Given the description of an element on the screen output the (x, y) to click on. 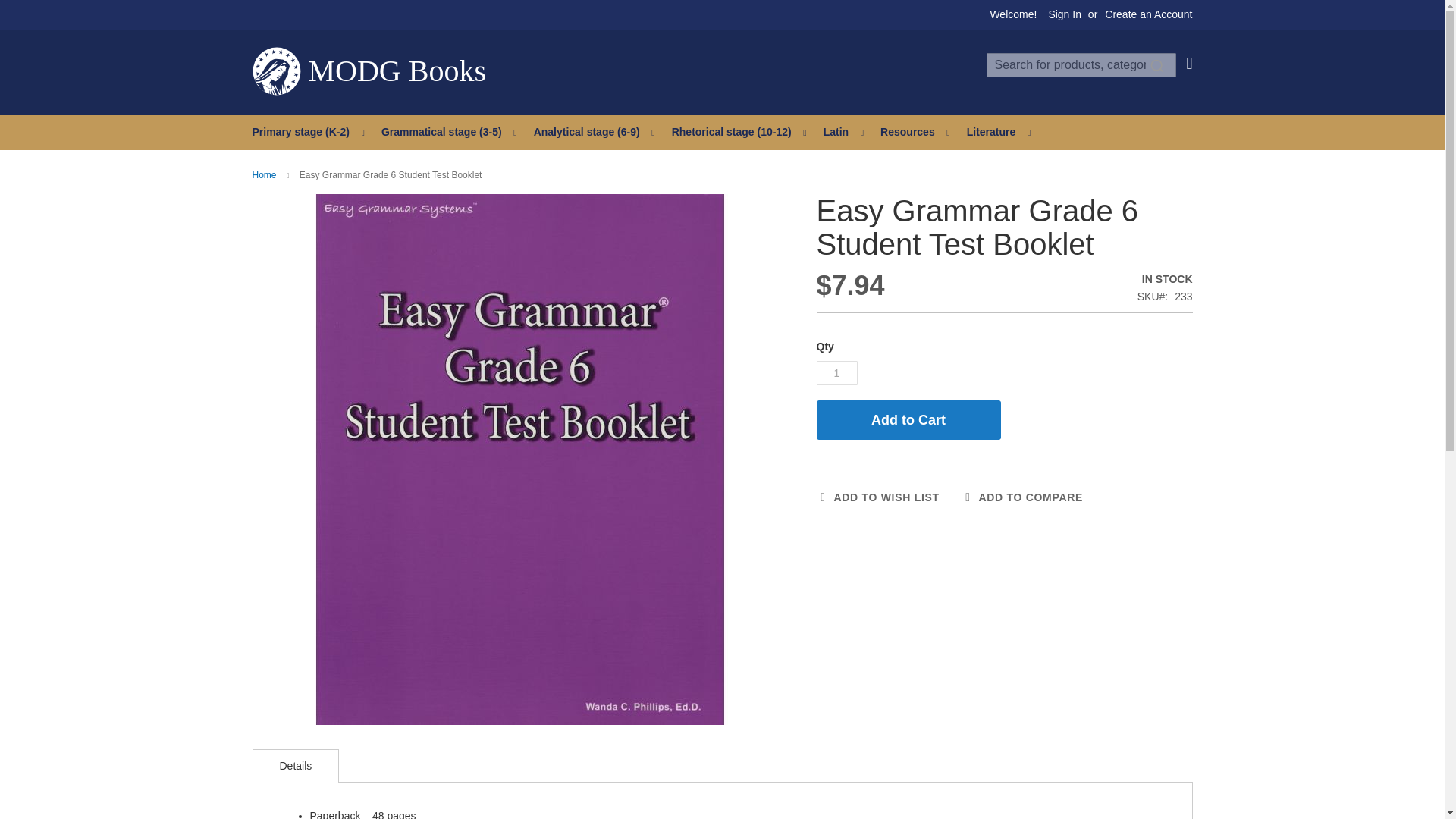
MODG Books (367, 70)
1 (836, 372)
Go to Home Page (263, 174)
Submit (1157, 64)
Qty (836, 372)
Literature (994, 131)
Resources (910, 131)
Sign In (1064, 14)
Latin (838, 131)
Create an Account (1148, 14)
Availability (1164, 279)
Add to Cart (907, 419)
